Given the description of an element on the screen output the (x, y) to click on. 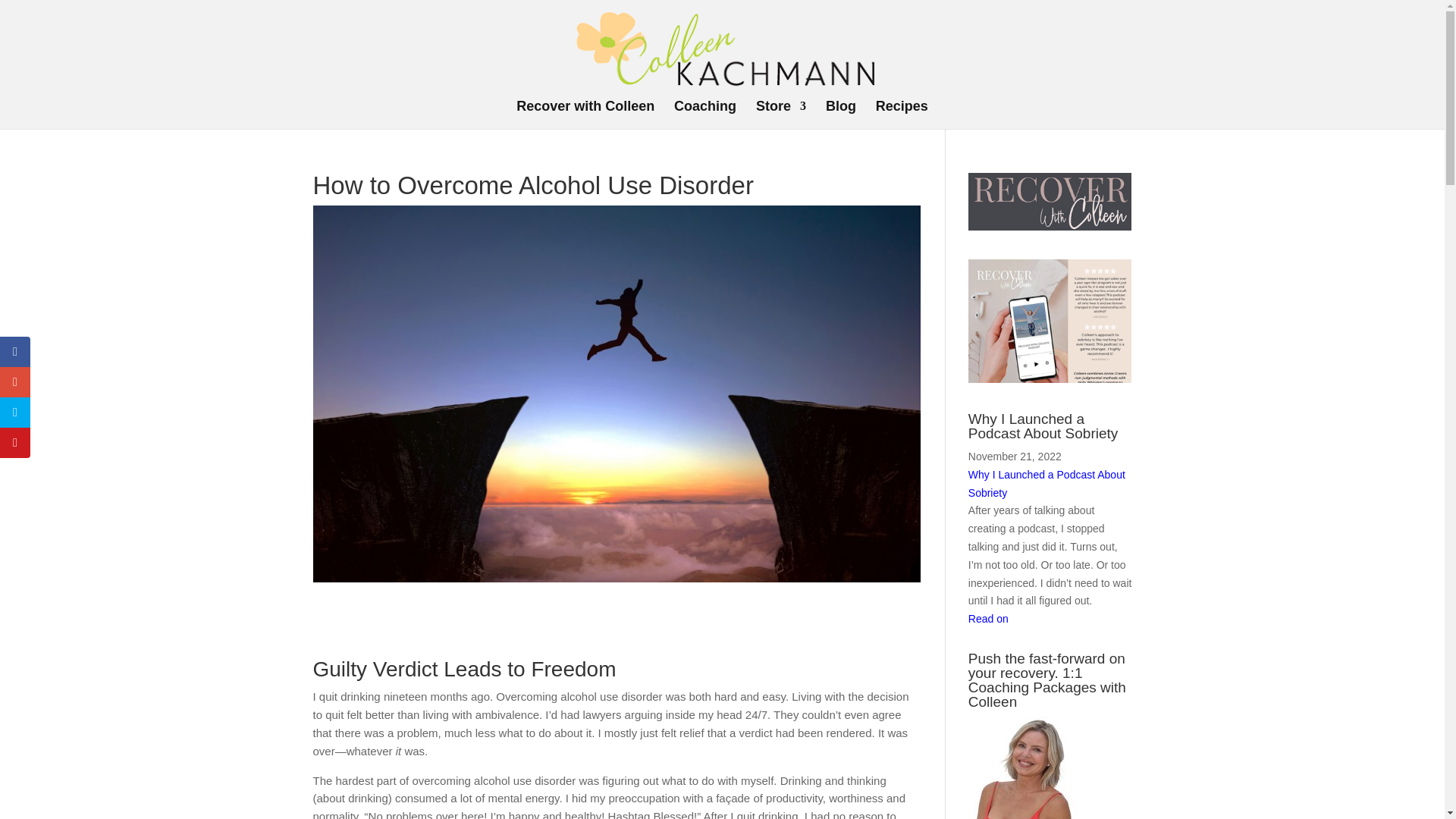
Recipes (902, 114)
Recover with Colleen (584, 114)
Blog (840, 114)
Why I Launched a Podcast About Sobriety (1046, 483)
Store (780, 114)
Read on (988, 618)
Coaching (705, 114)
